Given the description of an element on the screen output the (x, y) to click on. 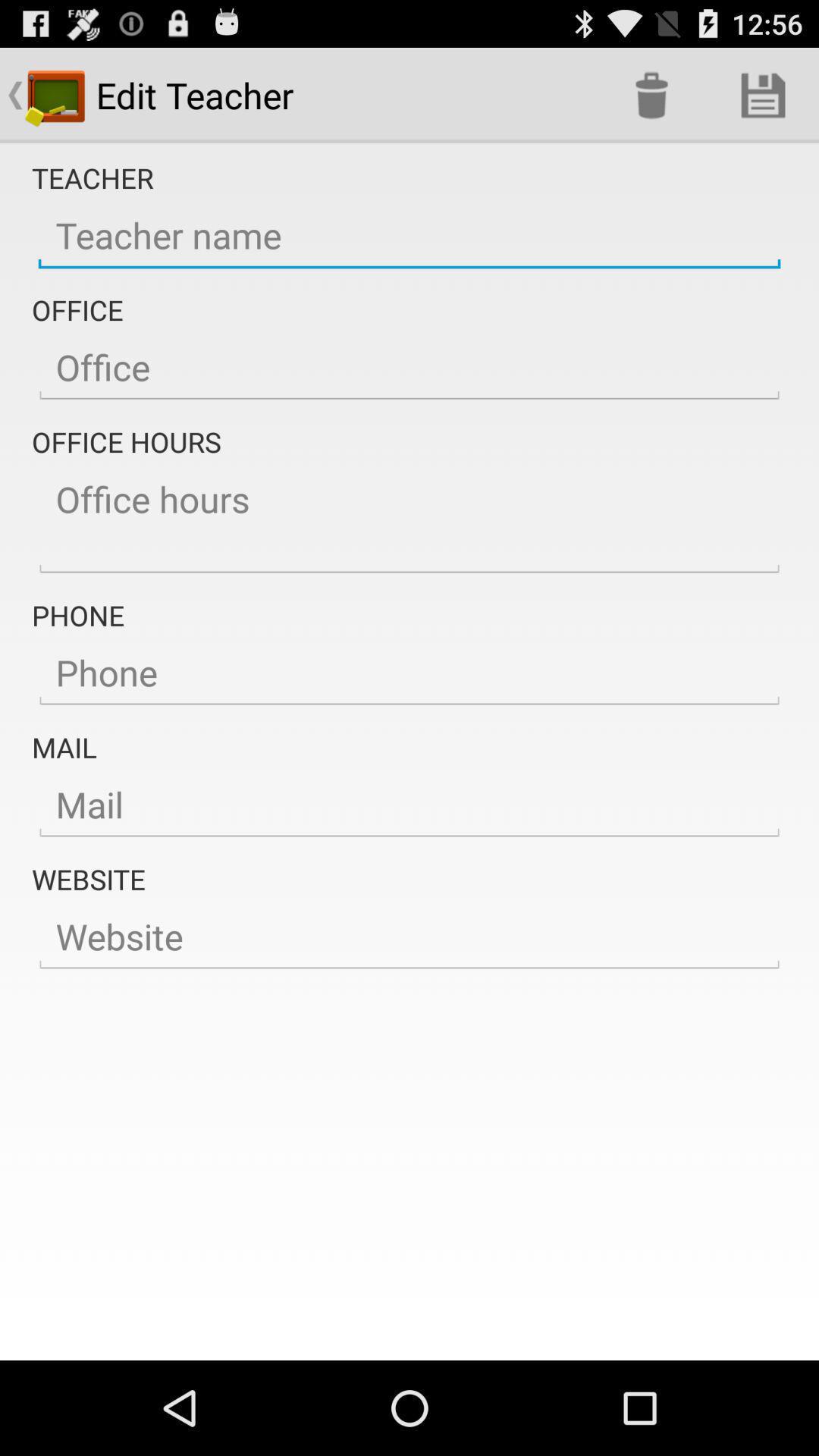
website (409, 937)
